Given the description of an element on the screen output the (x, y) to click on. 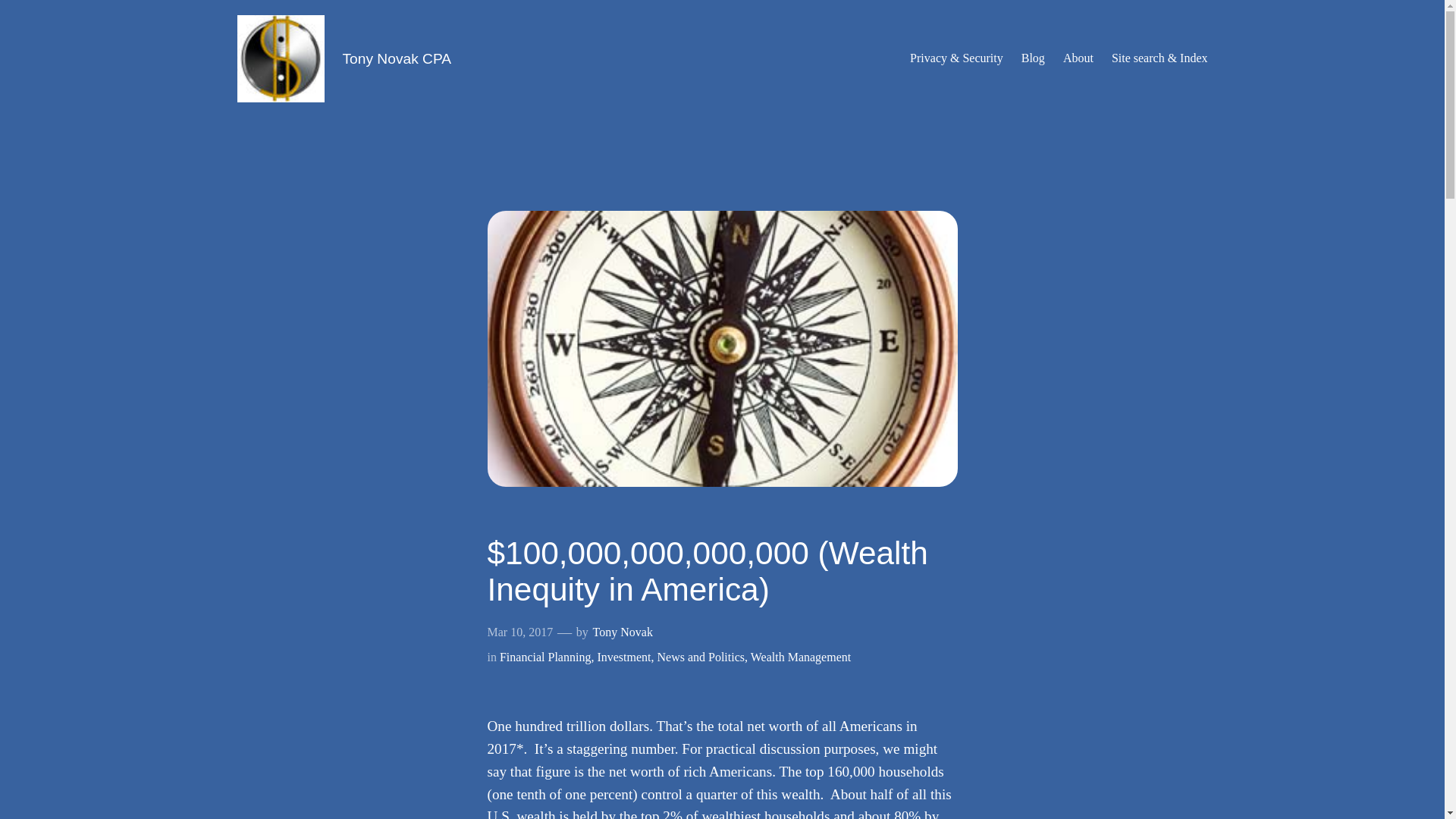
Investment (623, 656)
News and Politics (700, 656)
Wealth Management (800, 656)
Tony Novak CPA (396, 58)
Mar 10, 2017 (519, 631)
About (1077, 58)
Tony Novak (622, 631)
Blog (1033, 58)
Financial Planning (545, 656)
